Given the description of an element on the screen output the (x, y) to click on. 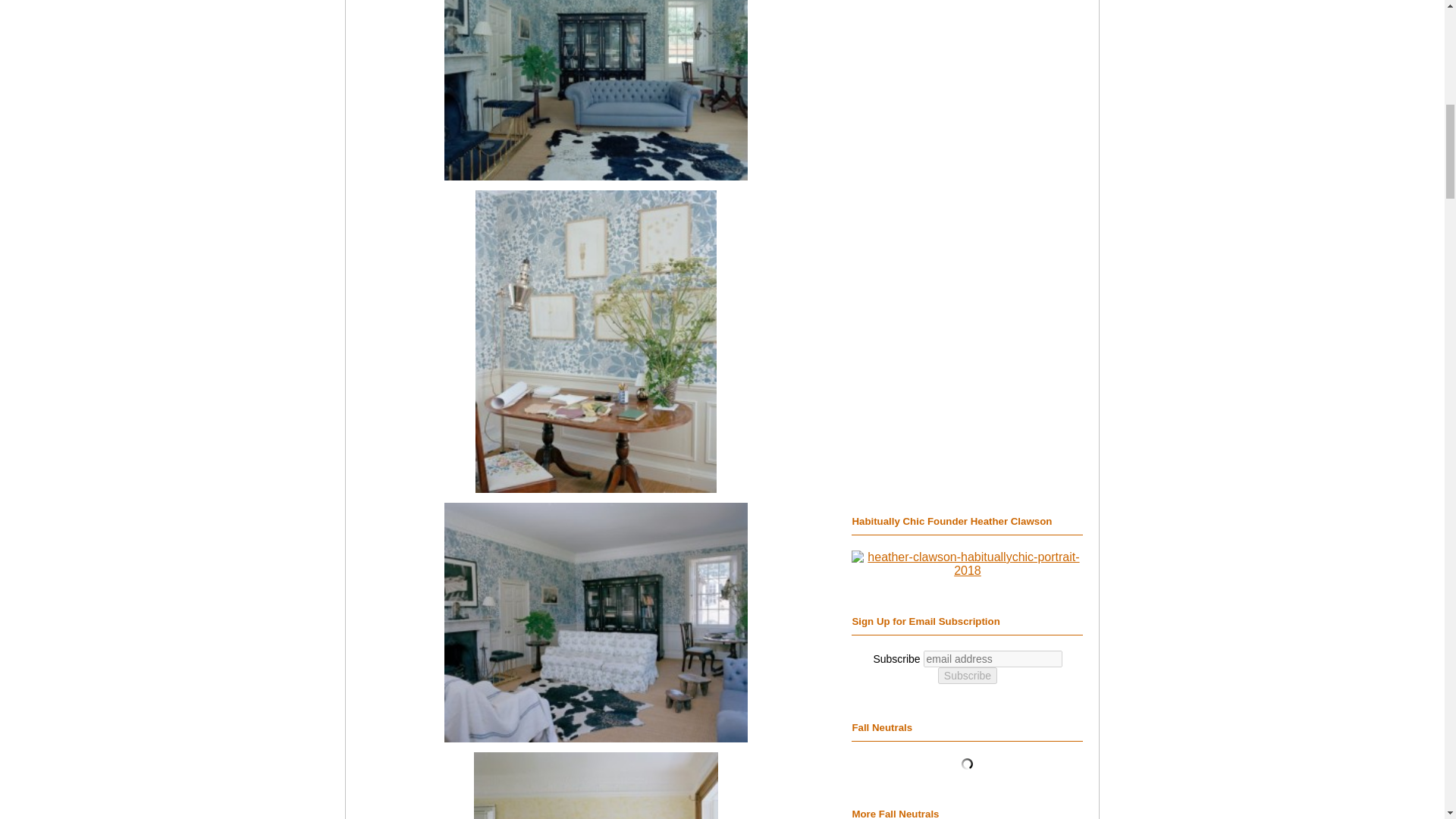
Subscribe (967, 675)
Advertisement (967, 272)
